Given the description of an element on the screen output the (x, y) to click on. 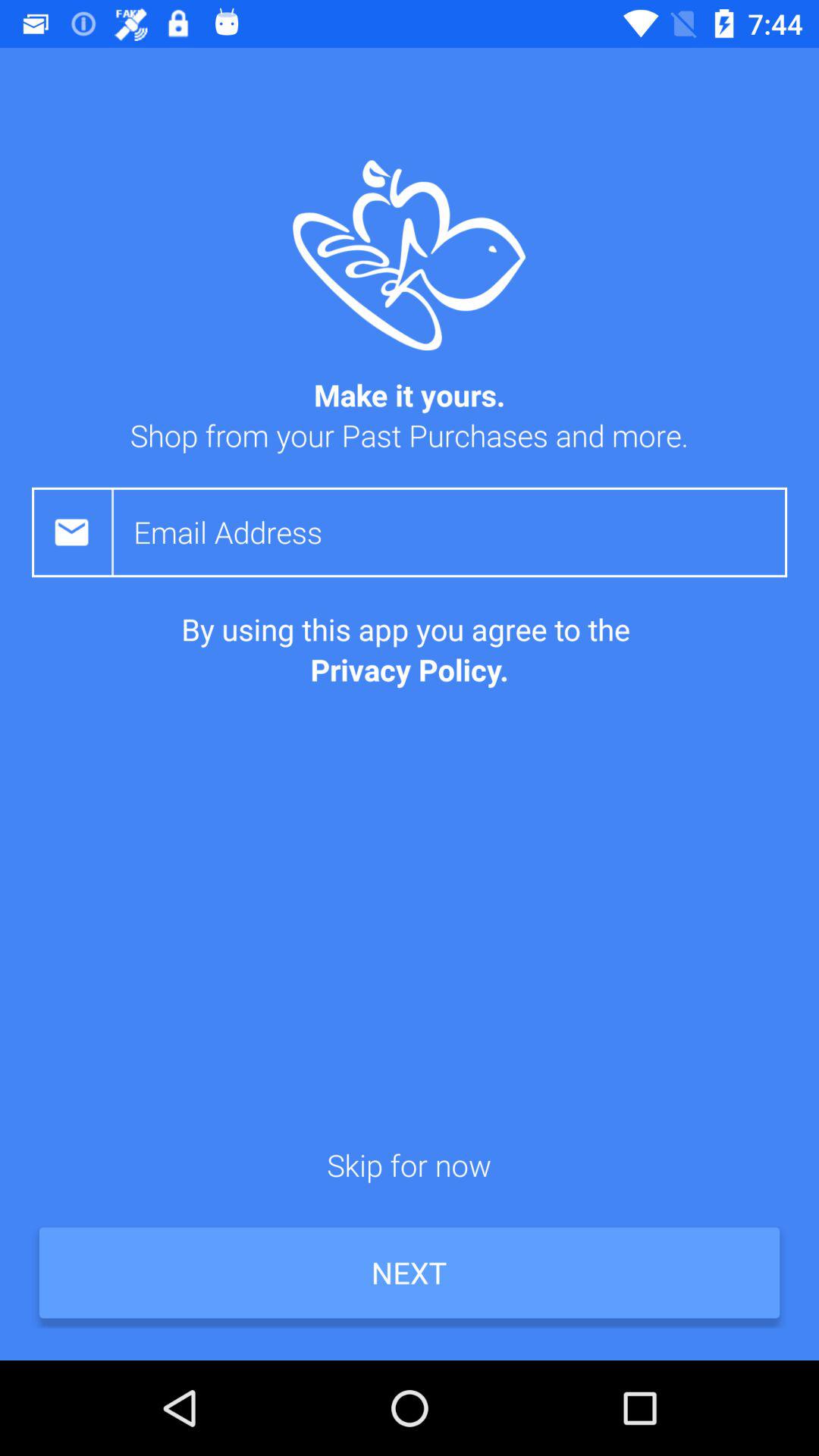
enter email address (460, 531)
